Given the description of an element on the screen output the (x, y) to click on. 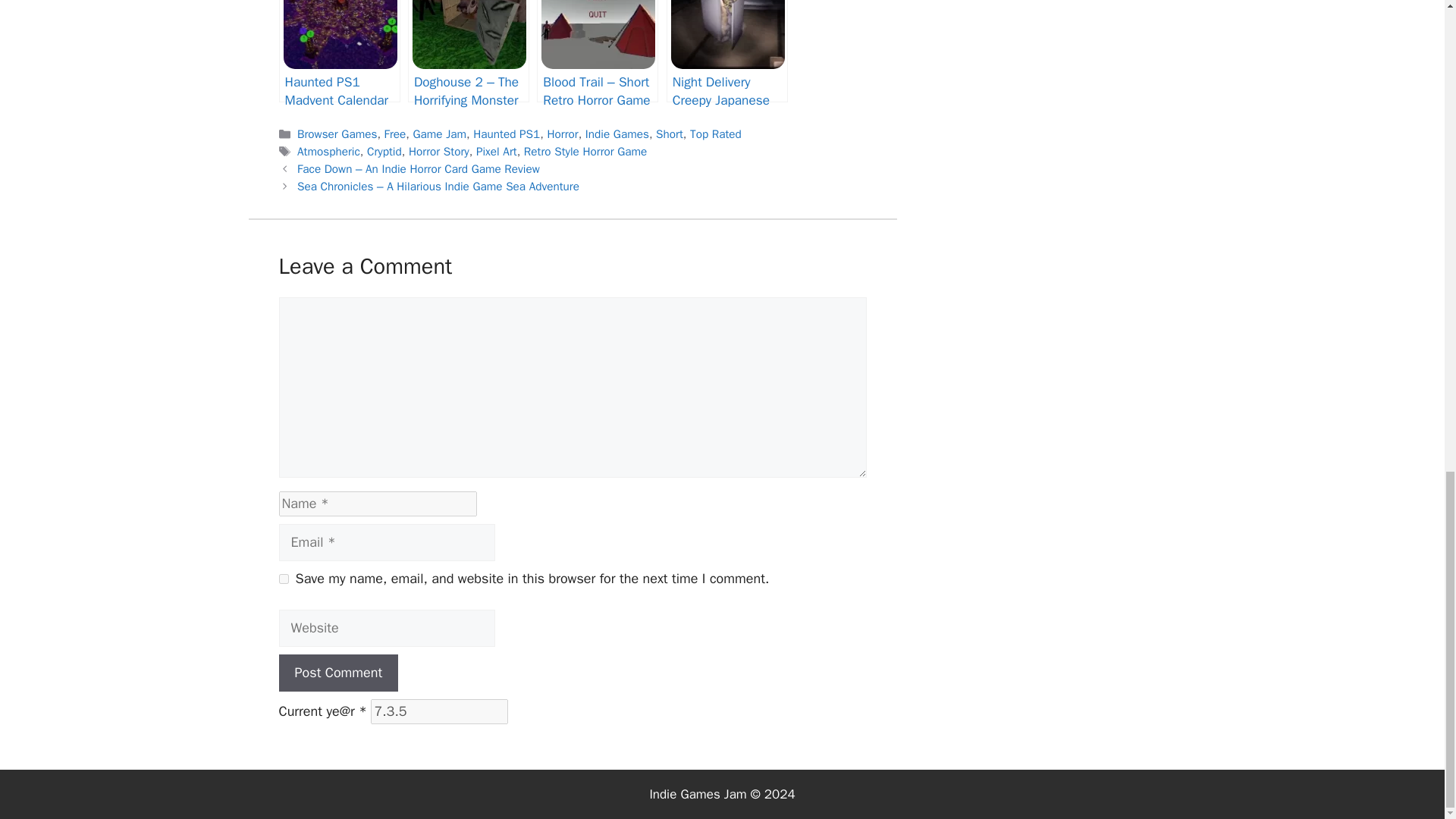
Atmospheric (328, 151)
Horror (562, 133)
Post Comment (338, 672)
Horror Story (438, 151)
Game Jam (438, 133)
Top Rated (715, 133)
yes (283, 578)
Browser Games (337, 133)
Indie Games (617, 133)
7.3.5 (439, 711)
